Given the description of an element on the screen output the (x, y) to click on. 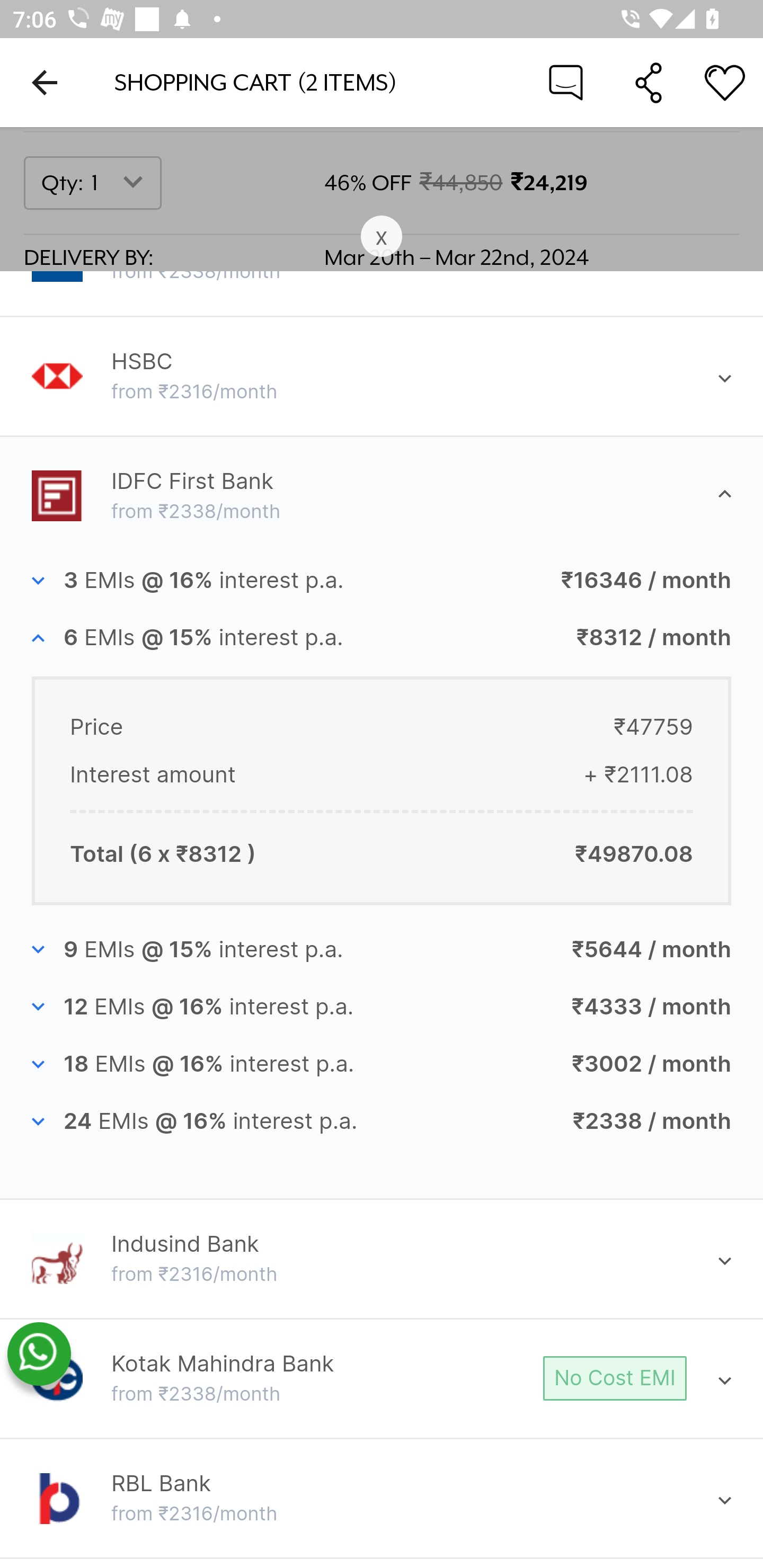
Navigate up (44, 82)
Chat (565, 81)
Share Cart (648, 81)
Wishlist (724, 81)
x (381, 237)
HSBC HSBC from ₹2316/month (381, 376)
IDFC First Bank IDFC First Bank from ₹2338/month (381, 495)
3 EMIs @ 16% interest p.a. ₹16346 / month (381, 580)
6 EMIs @ 15% interest p.a. ₹8312 / month (381, 638)
9 EMIs @ 15% interest p.a. ₹5644 / month (381, 949)
12 EMIs @ 16% interest p.a. ₹4333 / month (381, 1007)
18 EMIs @ 16% interest p.a. ₹3002 / month (381, 1065)
24 EMIs @ 16% interest p.a. ₹2338 / month (381, 1122)
Indusind Bank Indusind Bank from ₹2316/month (381, 1258)
whatsapp (38, 1354)
RBL Bank RBL Bank from ₹2316/month (381, 1499)
